Given the description of an element on the screen output the (x, y) to click on. 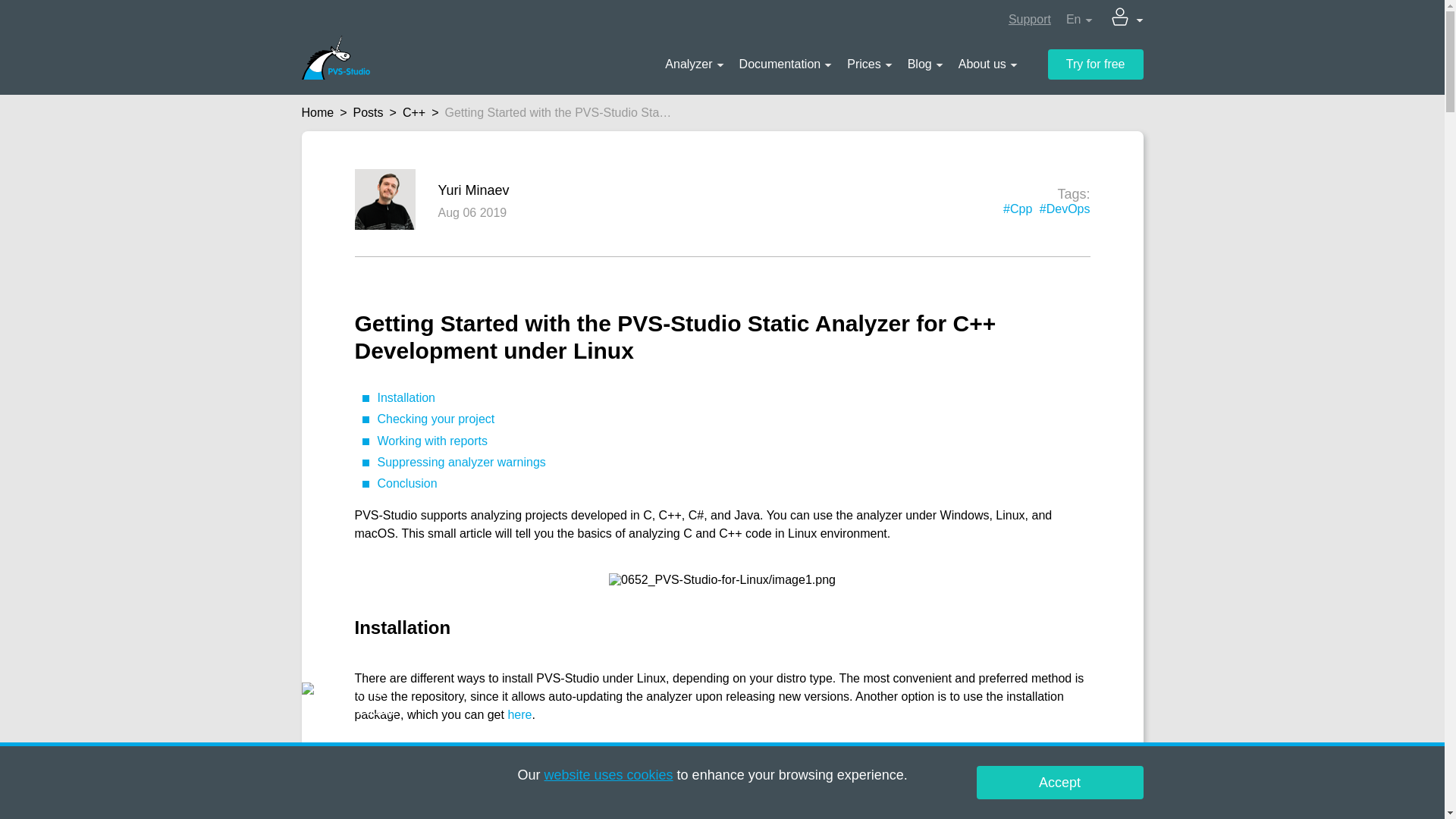
Try for free (1095, 64)
Support (1030, 19)
website uses cookies (608, 774)
